Given the description of an element on the screen output the (x, y) to click on. 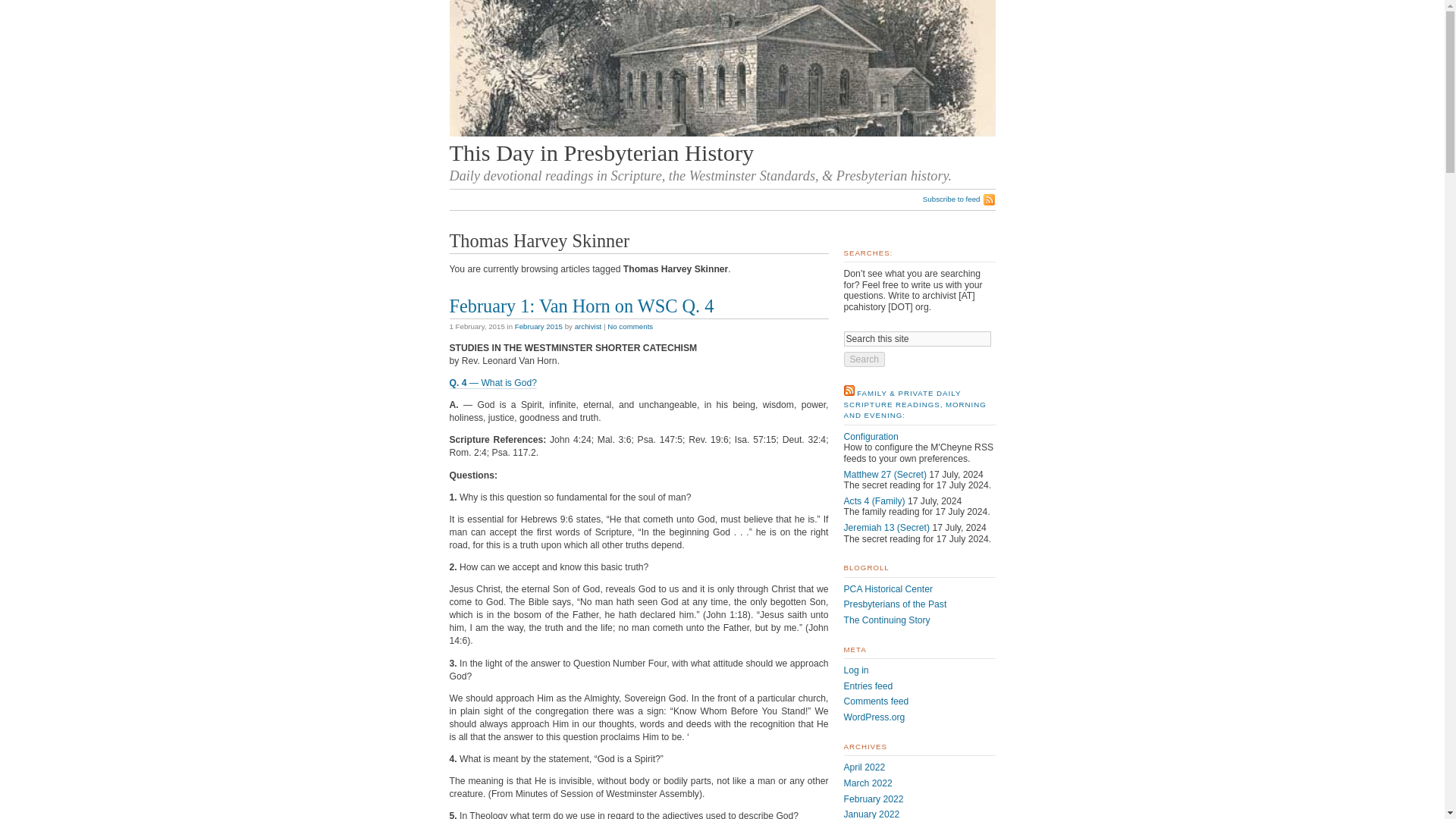
archivist (588, 326)
Presbyterians of the Past (894, 603)
PCA Historical Center (888, 588)
No comments (629, 326)
Search (864, 359)
Return to main page (601, 153)
Subscribe to feed (959, 199)
This Day in Presbyterian History (601, 153)
Entries feed (867, 685)
Log in (855, 670)
The Continuing Story (886, 620)
February 2015 (538, 326)
February 2022 (872, 798)
April 2022 (864, 767)
January 2022 (871, 814)
